Given the description of an element on the screen output the (x, y) to click on. 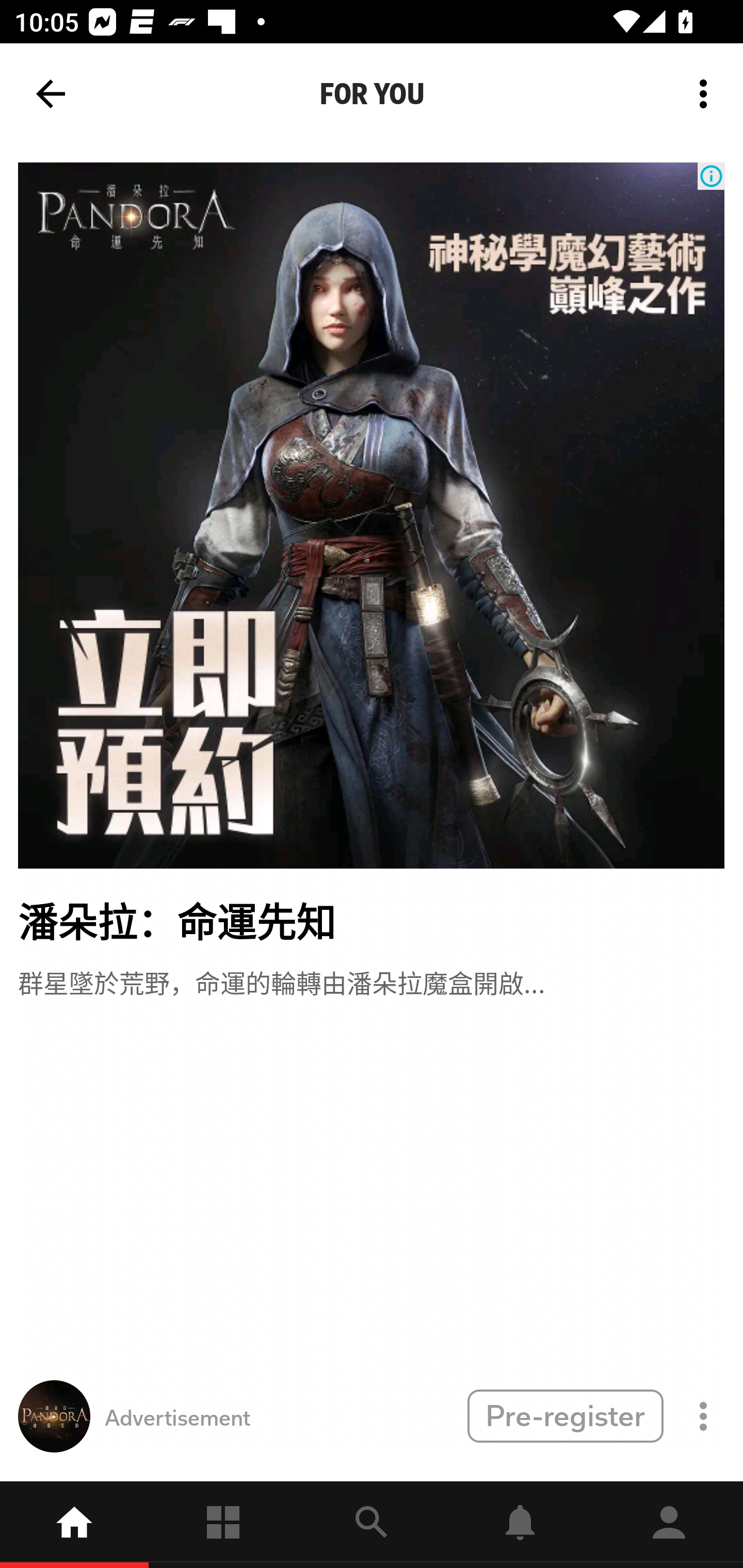
Back (50, 93)
FOR YOU (371, 93)
More options (706, 93)
Ad Choices Icon (711, 176)
群星墜於荒野，命運的輪轉由潘朵拉魔盒開啟... (281, 981)
Pre-register (565, 1415)
home (74, 1524)
Following (222, 1524)
explore (371, 1524)
Notifications (519, 1524)
Profile (668, 1524)
